Given the description of an element on the screen output the (x, y) to click on. 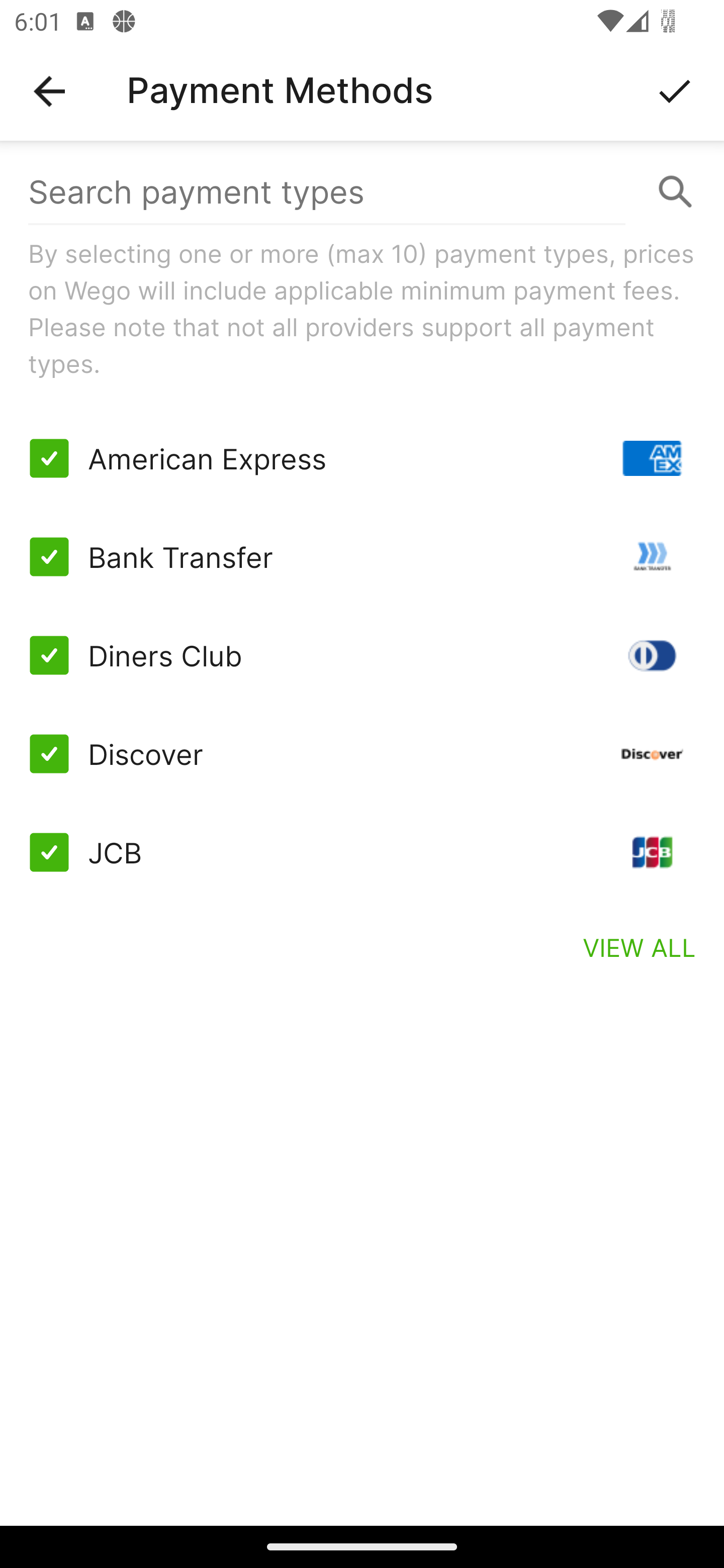
Search payment types  (361, 191)
American Express (362, 458)
Bank Transfer (362, 557)
Diners Club (362, 655)
Discover (362, 753)
JCB (362, 851)
VIEW ALL (639, 946)
